Given the description of an element on the screen output the (x, y) to click on. 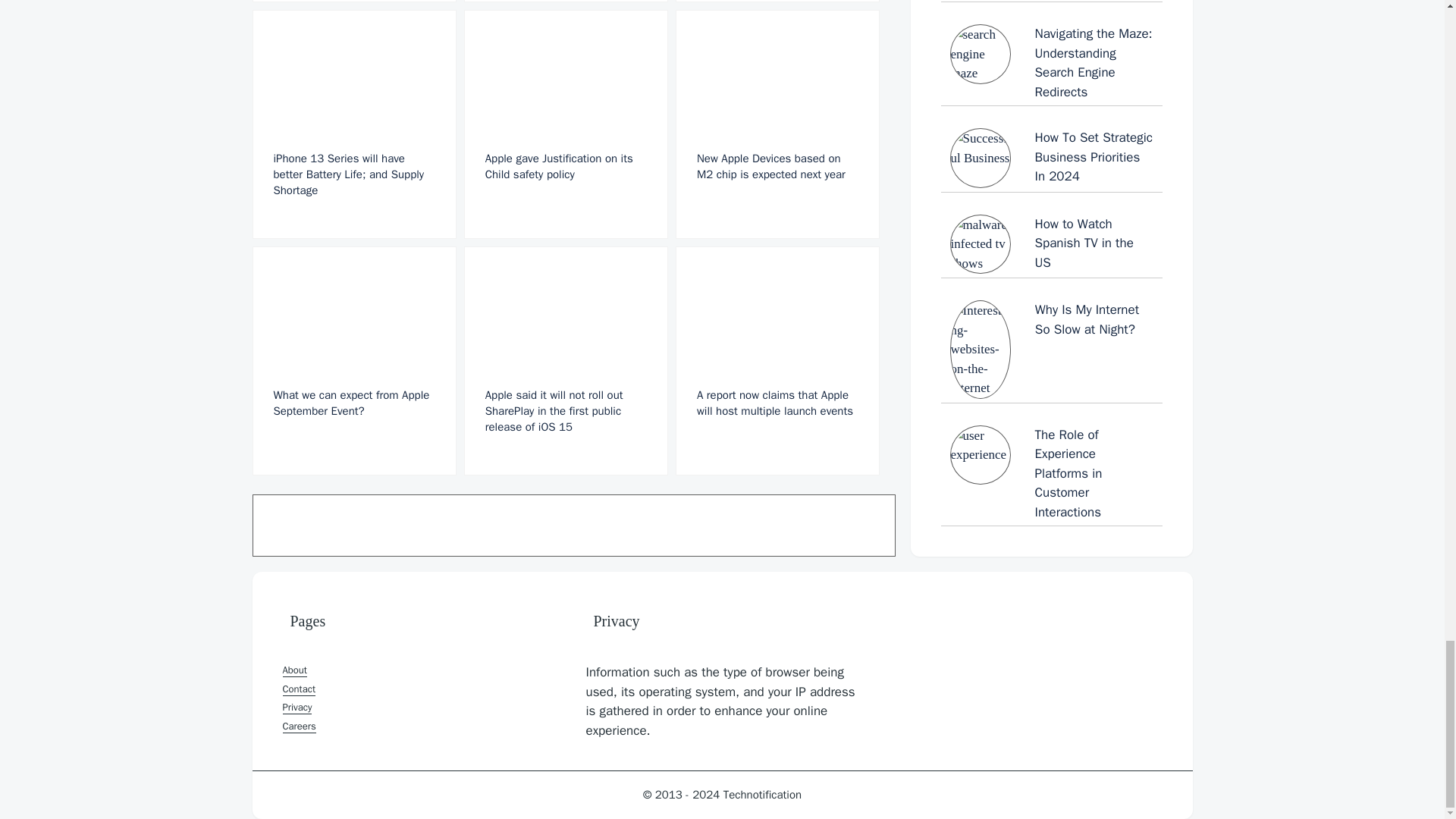
Apple to add more companies to its iPhone 13 supply chain (566, 1)
Apple to add more companies to its iPhone 13 supply chain (566, 1)
iPhone 13 Leaks: Camera enhancements expected (777, 1)
Apple gave Justification on its Child safety policy (566, 124)
iPhone 13 Leaks: Camera enhancements expected (777, 1)
What we can expect from Apple September Event? (353, 360)
New Apple Devices based on M2 chip is expected next year (777, 124)
